Given the description of an element on the screen output the (x, y) to click on. 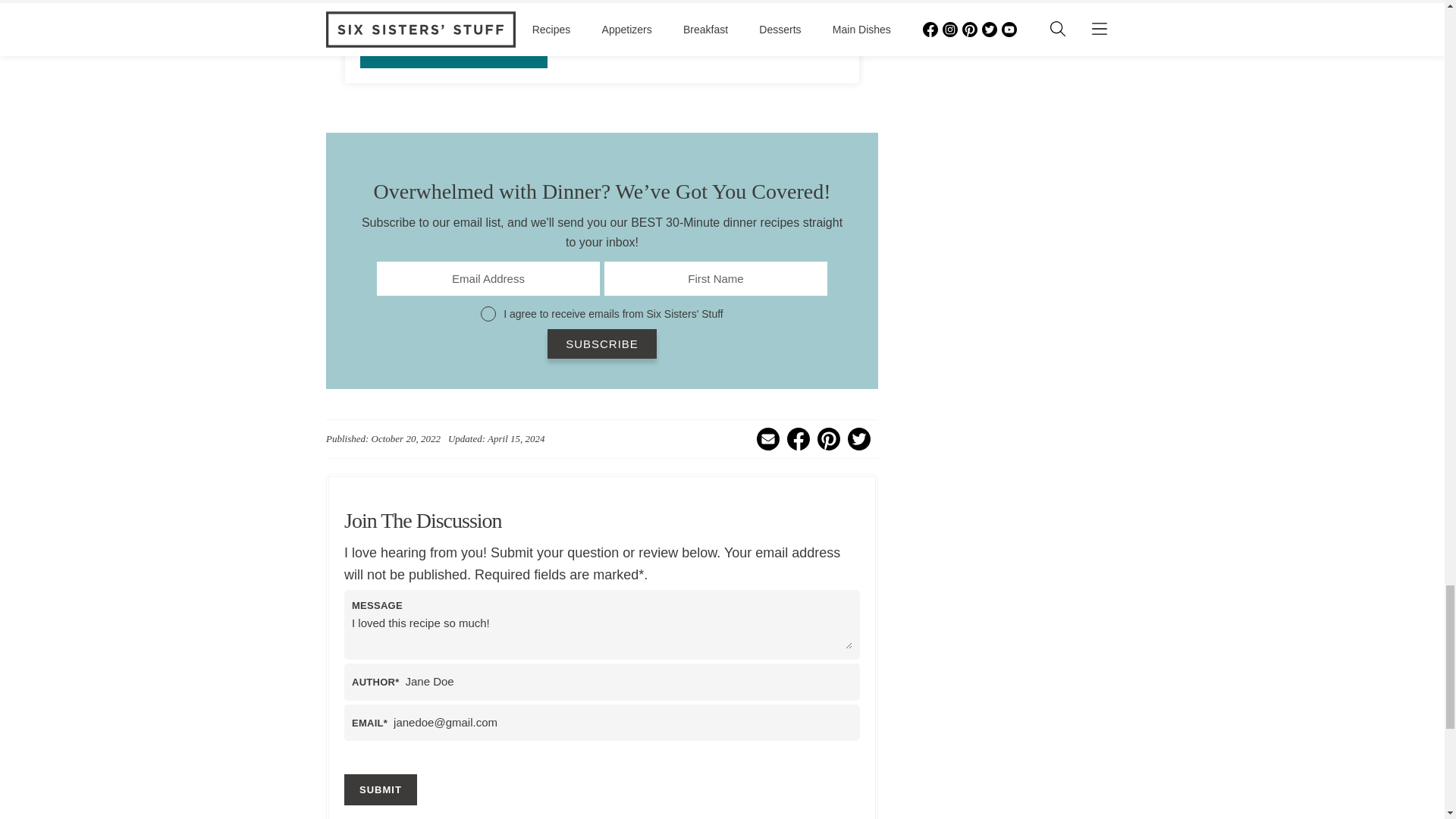
Submit (379, 789)
5017270 (488, 313)
